Given the description of an element on the screen output the (x, y) to click on. 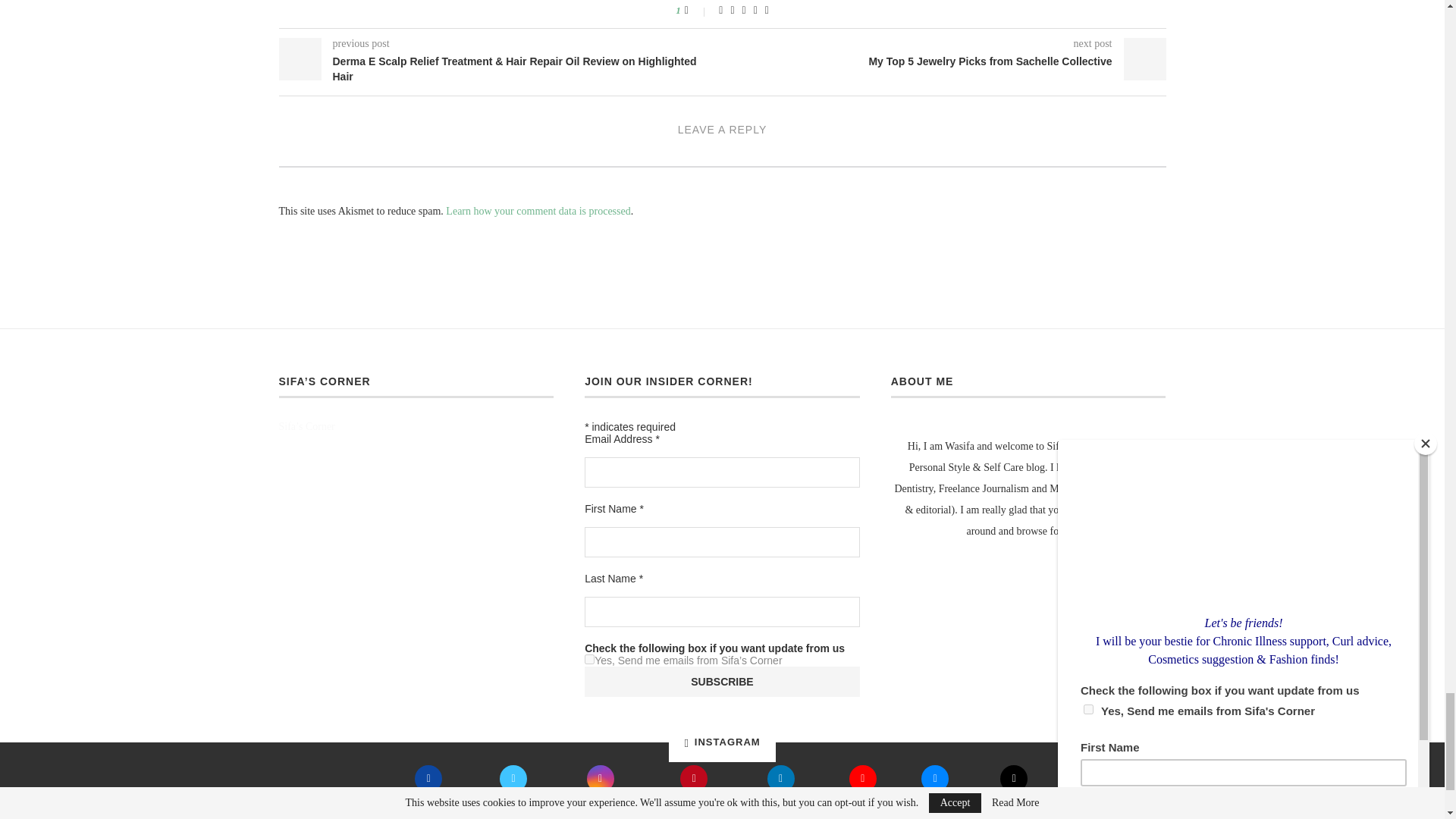
1 (589, 659)
Subscribe (722, 681)
